Given the description of an element on the screen output the (x, y) to click on. 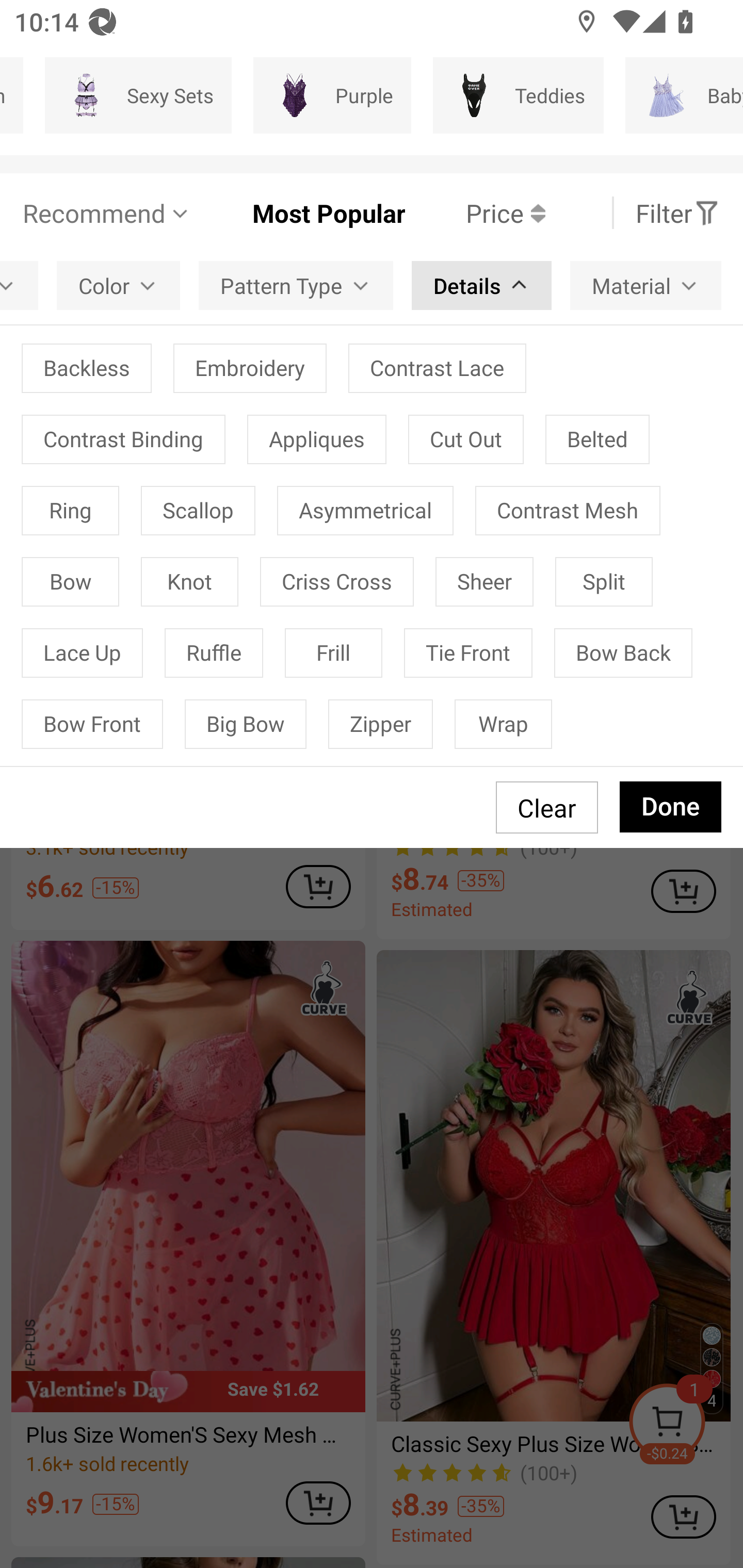
Sexy Sets (137, 95)
Purple (331, 95)
Teddies (518, 95)
Babydolls (684, 95)
Recommend (106, 213)
Most Popular (297, 213)
Price (474, 213)
Filter (677, 213)
Color (117, 285)
Pattern Type (295, 285)
Details (481, 285)
Material (645, 285)
